Given the description of an element on the screen output the (x, y) to click on. 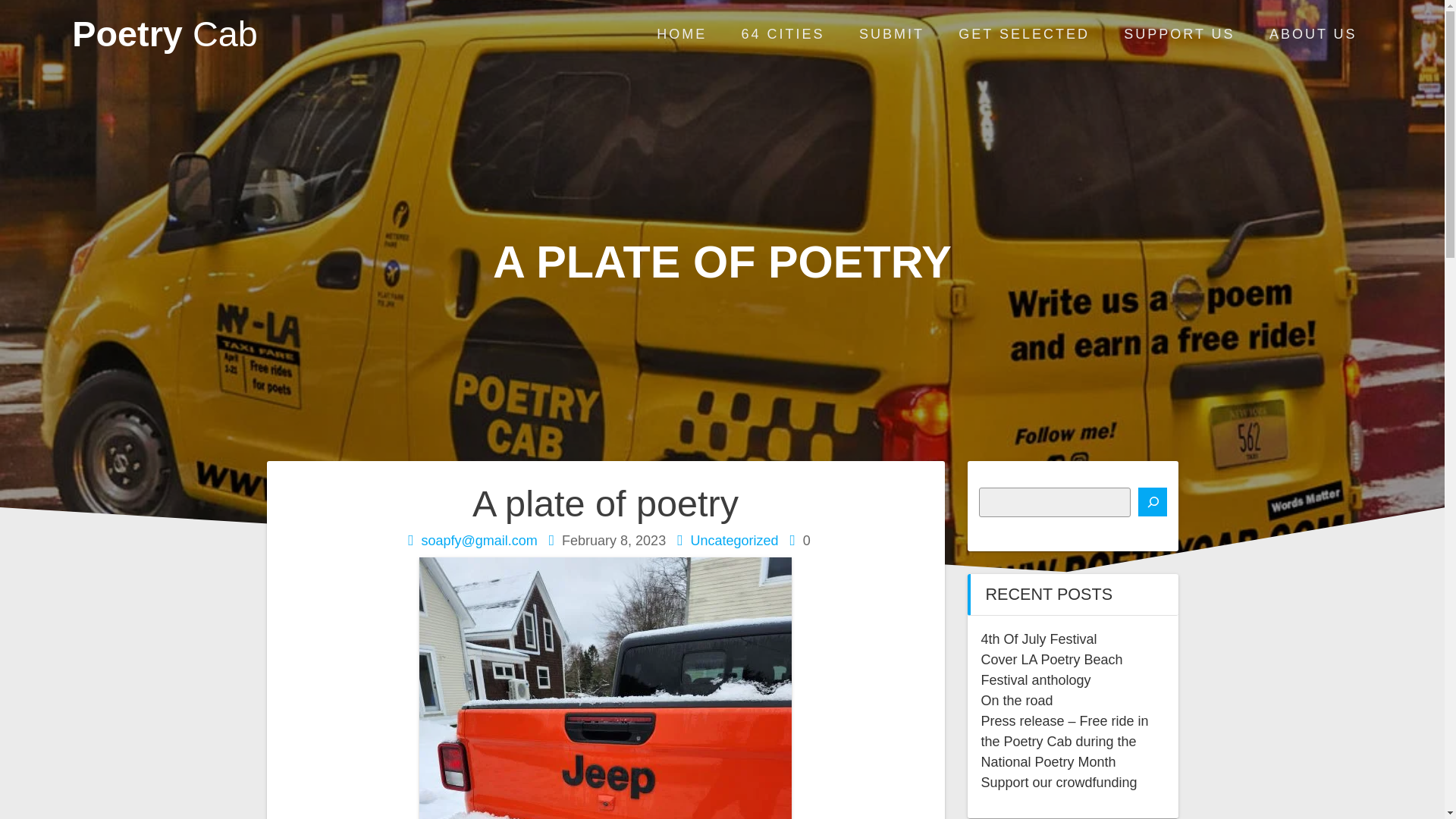
SUBMIT (891, 34)
Poetry Cab (164, 34)
GET SELECTED (1023, 34)
4th Of July Festival (1039, 639)
SUPPORT US (1179, 34)
On the road (1016, 700)
Cover LA Poetry Beach Festival anthology (1051, 669)
Uncategorized (733, 540)
64 CITIES (783, 34)
Support our crowdfunding (1059, 782)
